Given the description of an element on the screen output the (x, y) to click on. 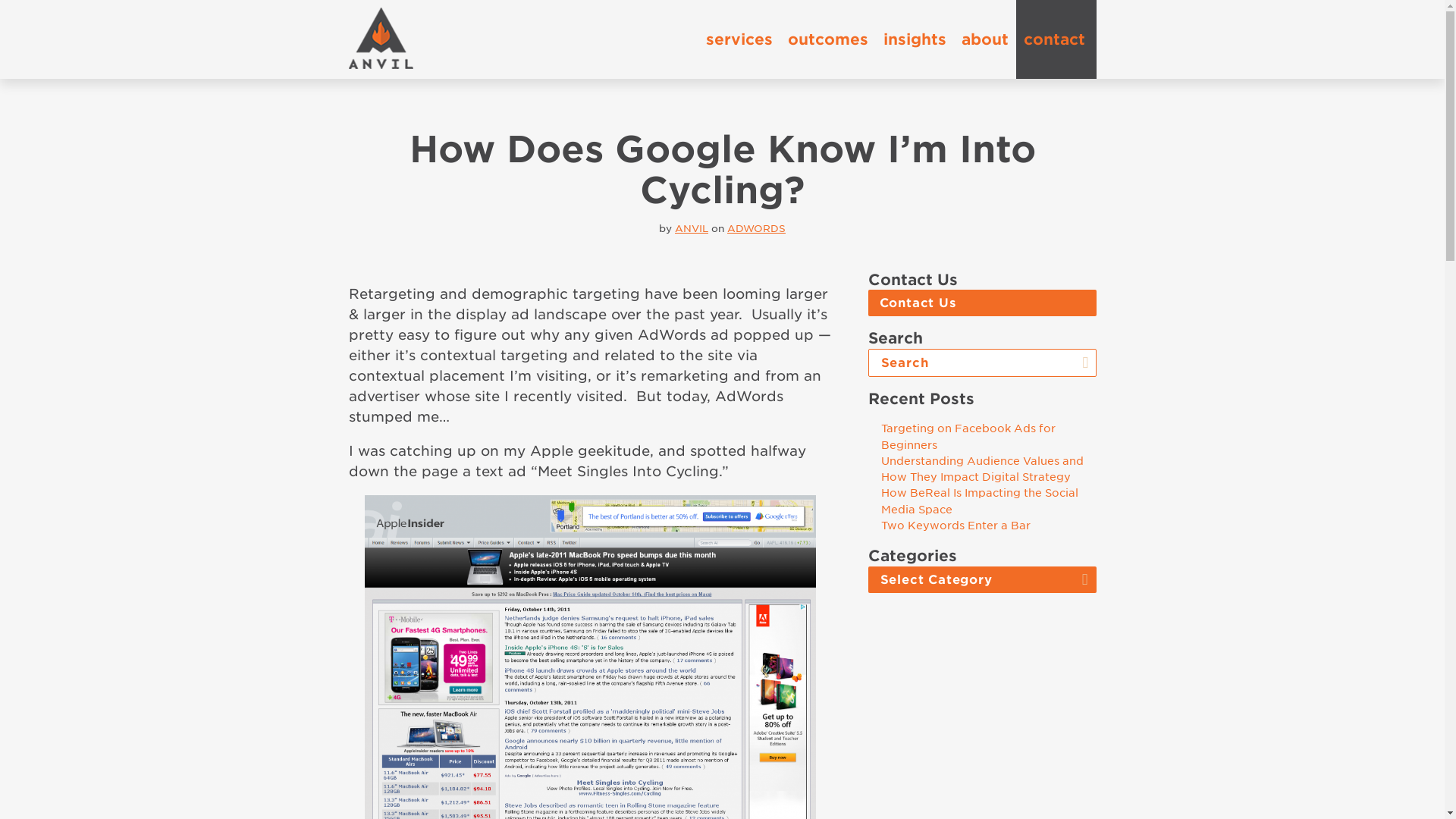
ADWORDS (756, 227)
Contact Us (981, 302)
outcomes (826, 39)
Posts by Anvil (691, 227)
insights (914, 39)
services (737, 39)
ANVIL (691, 227)
Targeting on Facebook Ads for Beginners (967, 436)
